Given the description of an element on the screen output the (x, y) to click on. 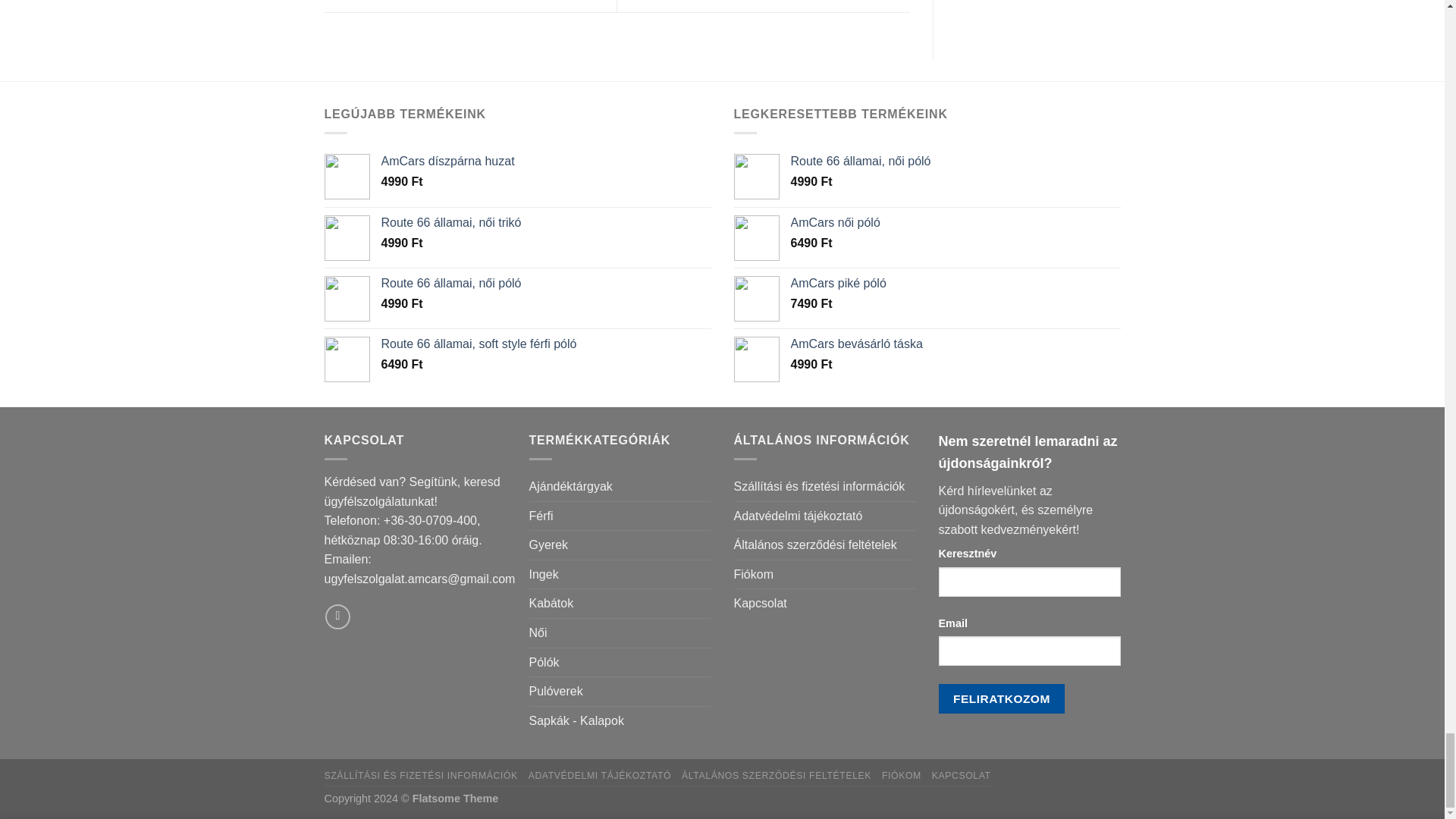
Feliratkozom (1002, 698)
